Given the description of an element on the screen output the (x, y) to click on. 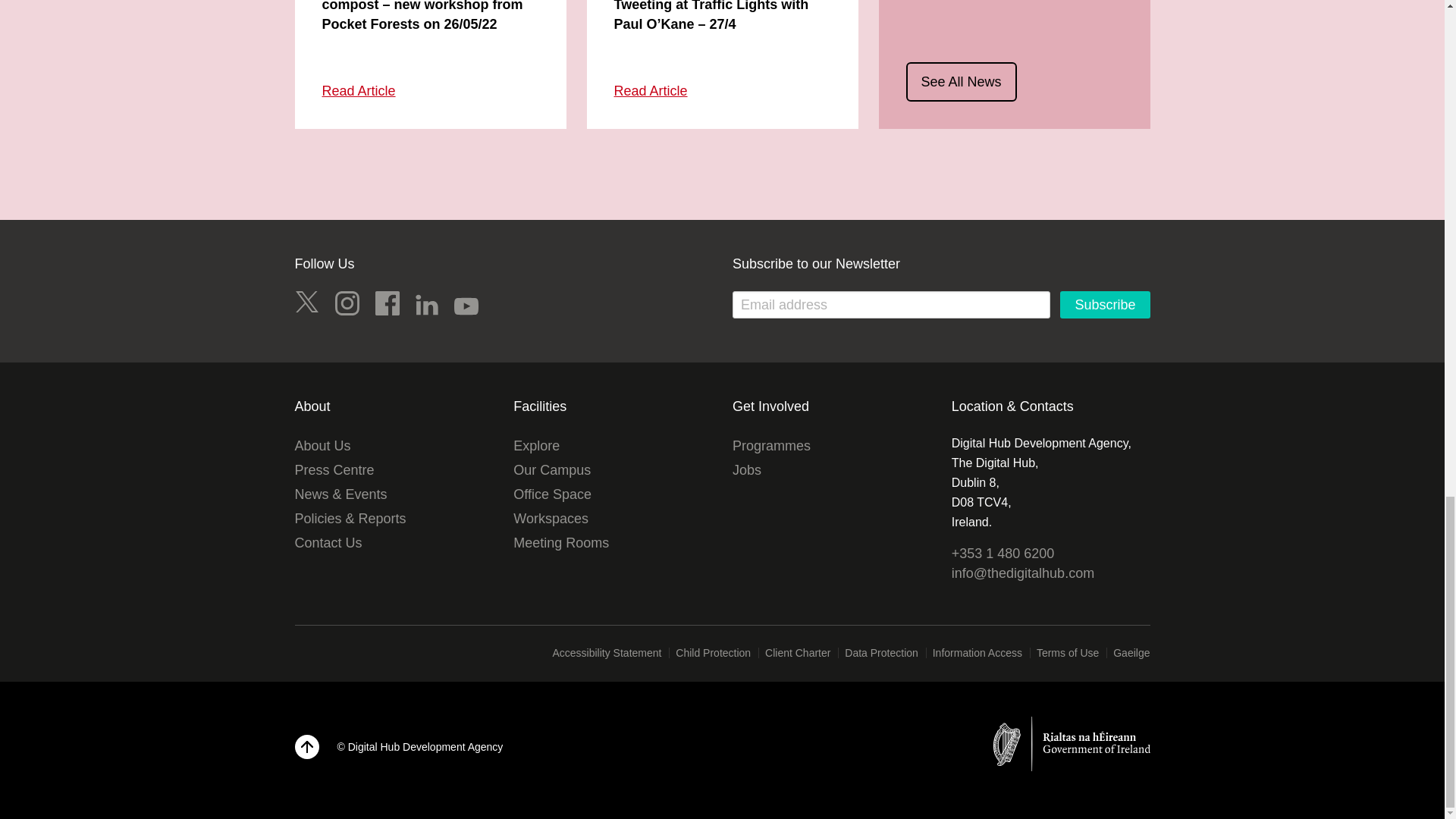
See All News (960, 81)
Facebook (386, 303)
YouTube (466, 306)
Read Article (650, 91)
Instagram (346, 303)
Read Article (357, 91)
LinkedIn (426, 304)
Twitter X (306, 303)
Subscribe (1104, 304)
